Given the description of an element on the screen output the (x, y) to click on. 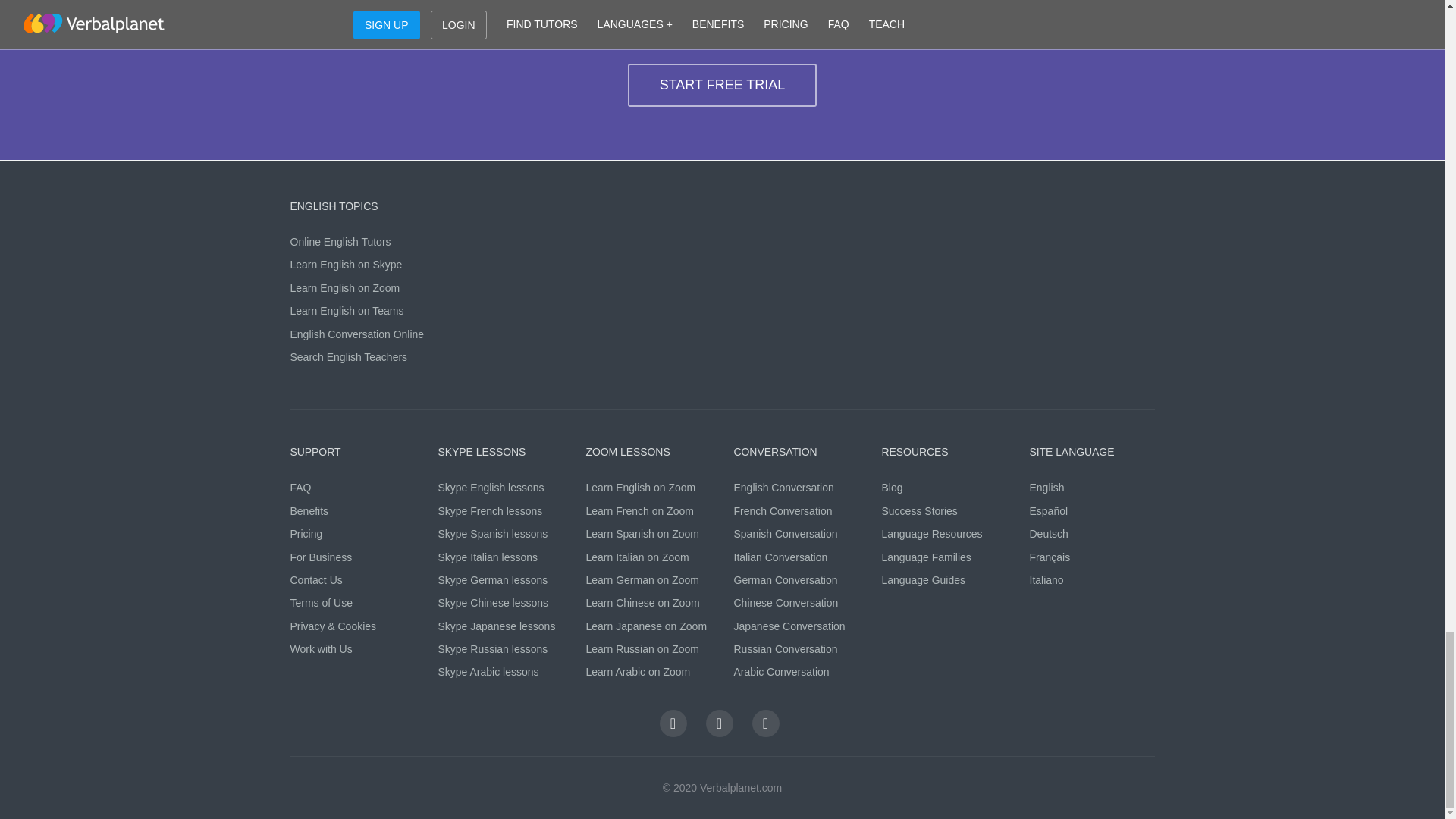
Trustpilot (765, 723)
Twitter (718, 723)
Facebook (673, 723)
